Given the description of an element on the screen output the (x, y) to click on. 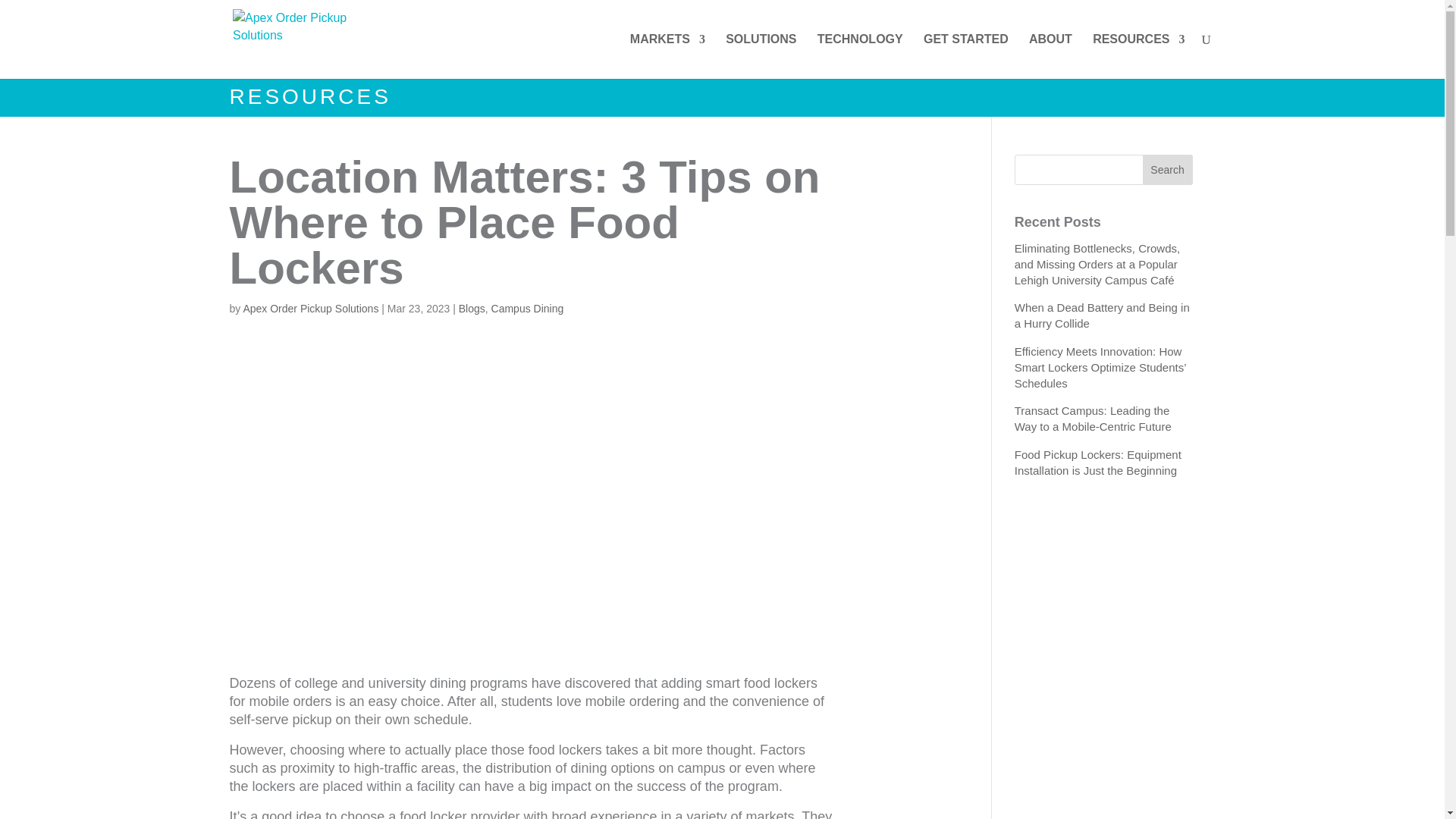
GET STARTED (966, 55)
Search (1167, 169)
When a Dead Battery and Being in a Hurry Collide (1103, 315)
SOLUTIONS (760, 55)
TECHNOLOGY (859, 55)
Apex Order Pickup Solutions (310, 308)
Transact Campus: Leading the Way to a Mobile-Centric Future (1103, 418)
MARKETS (667, 55)
ABOUT (1050, 55)
